Given the description of an element on the screen output the (x, y) to click on. 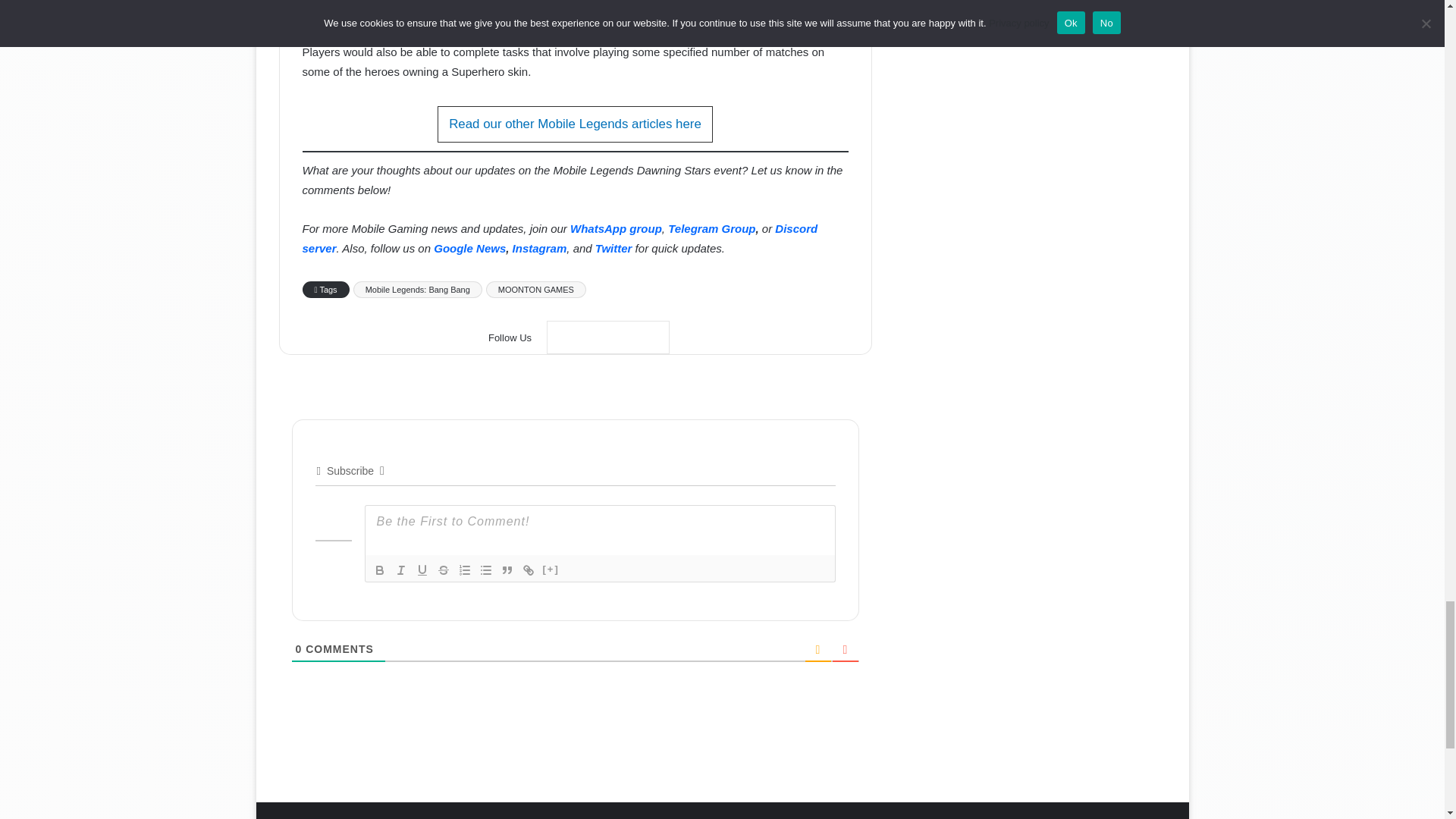
Blockquote (506, 570)
Link (527, 570)
Ordered List (463, 570)
Italic (400, 570)
Strike (442, 570)
Google News (608, 337)
Unordered List (485, 570)
Bold (379, 570)
Underline (421, 570)
